Given the description of an element on the screen output the (x, y) to click on. 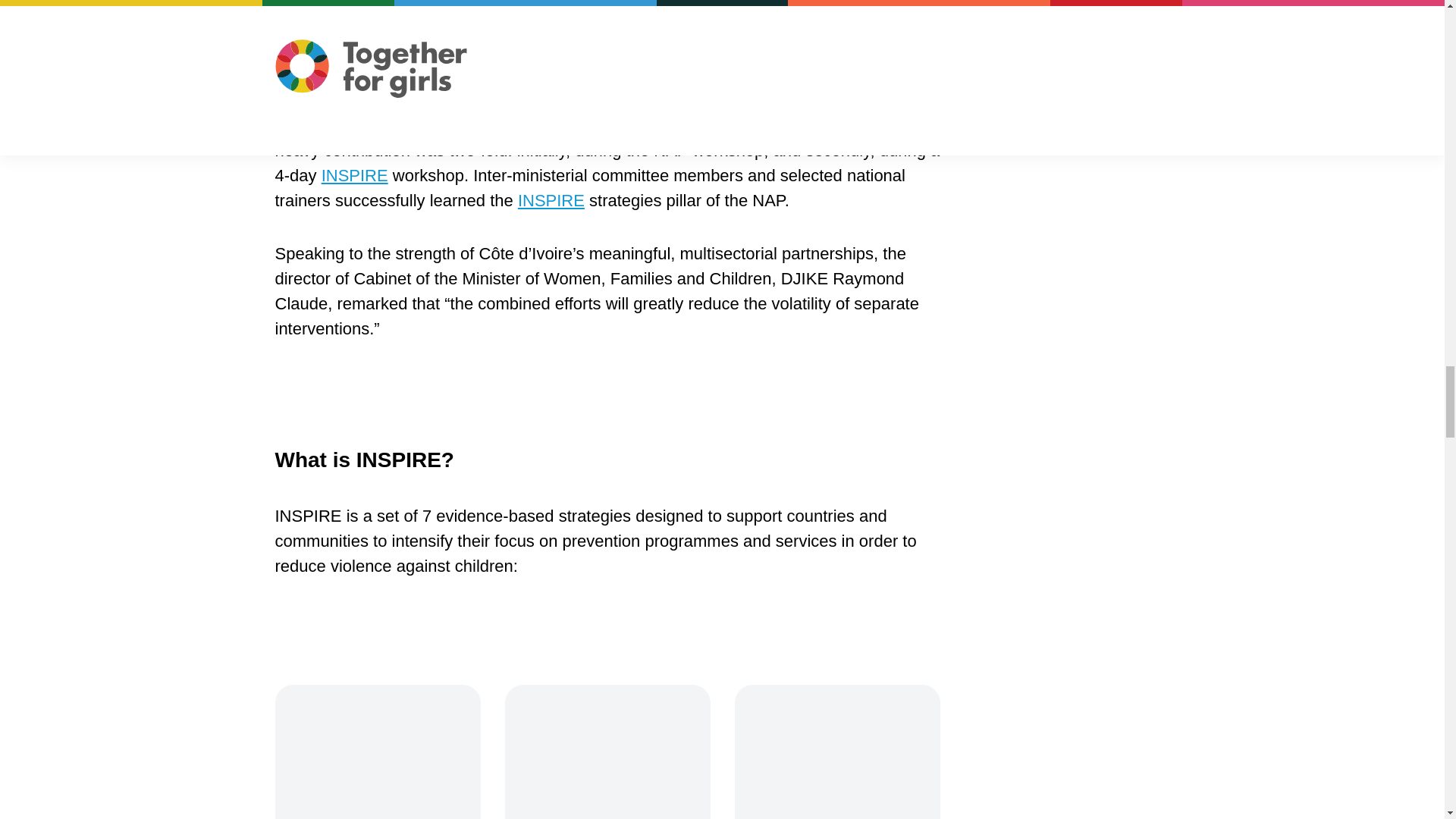
INSPIRE (354, 175)
INSPIRE (551, 199)
